Given the description of an element on the screen output the (x, y) to click on. 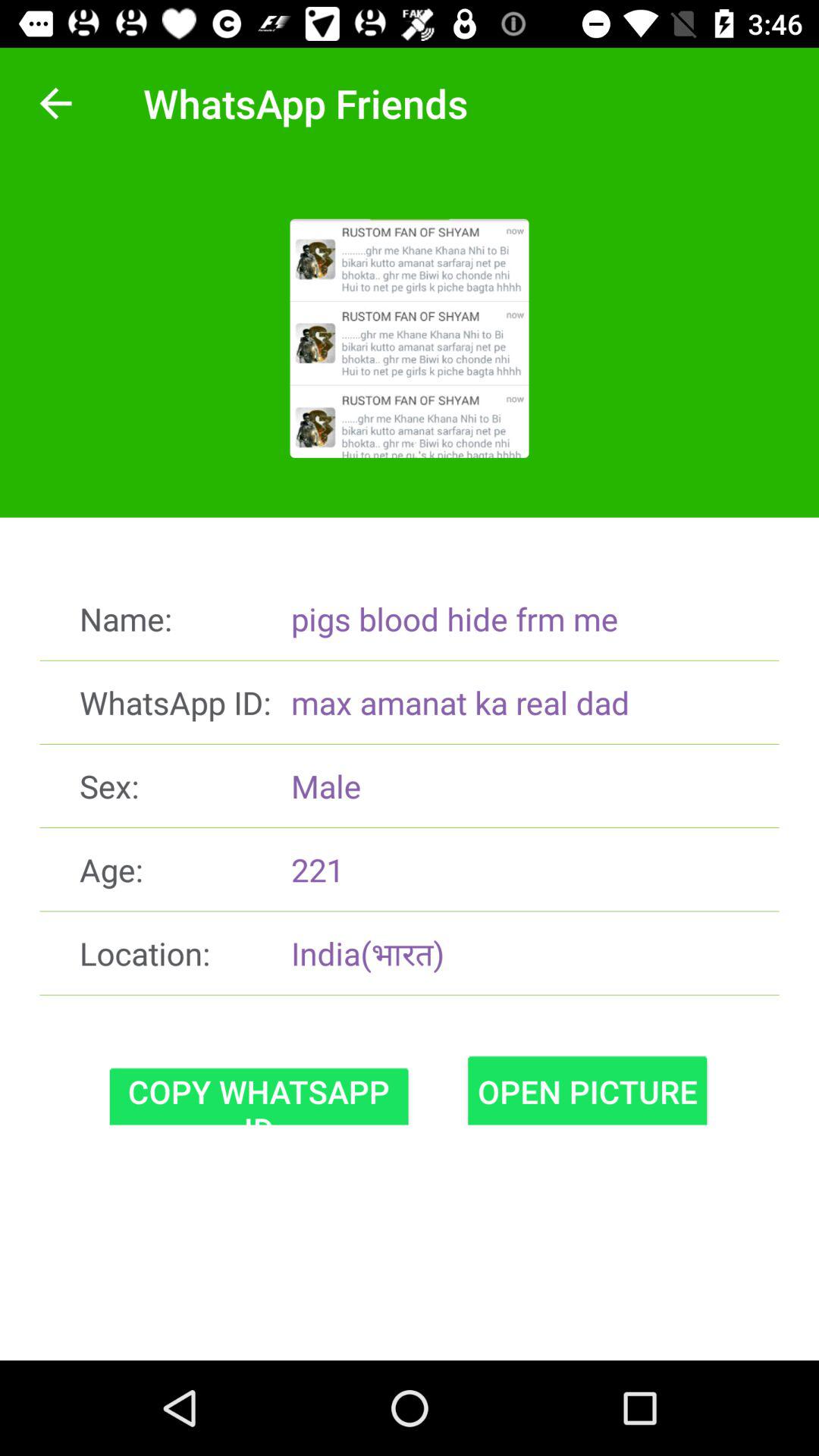
click icon to the left of the whatsapp friends app (55, 103)
